Given the description of an element on the screen output the (x, y) to click on. 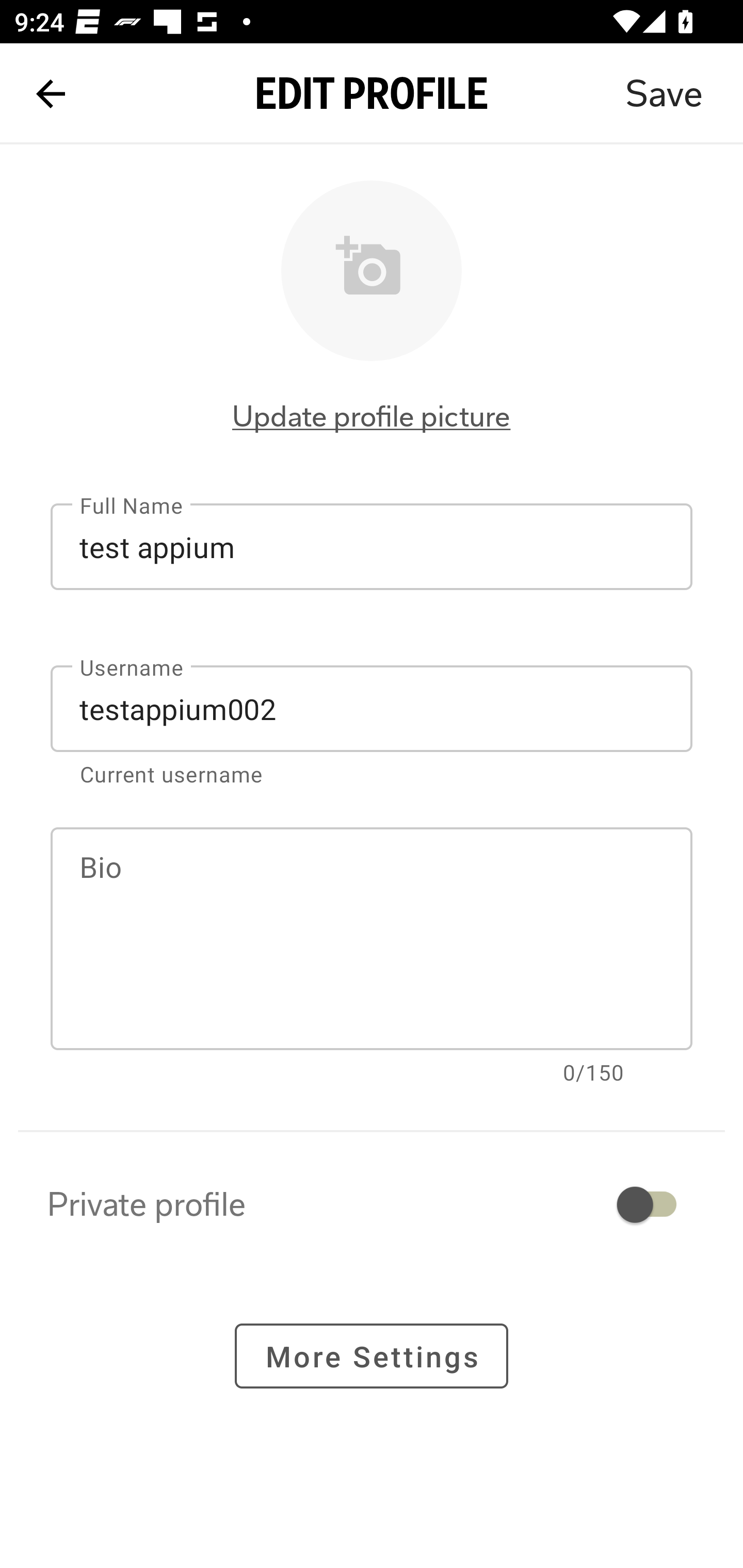
Back (50, 93)
Save (663, 93)
Update profile picture (371, 415)
test appium (371, 546)
testappium002 (371, 708)
Bio (371, 938)
Private profile (371, 1204)
More Settings (371, 1355)
